Given the description of an element on the screen output the (x, y) to click on. 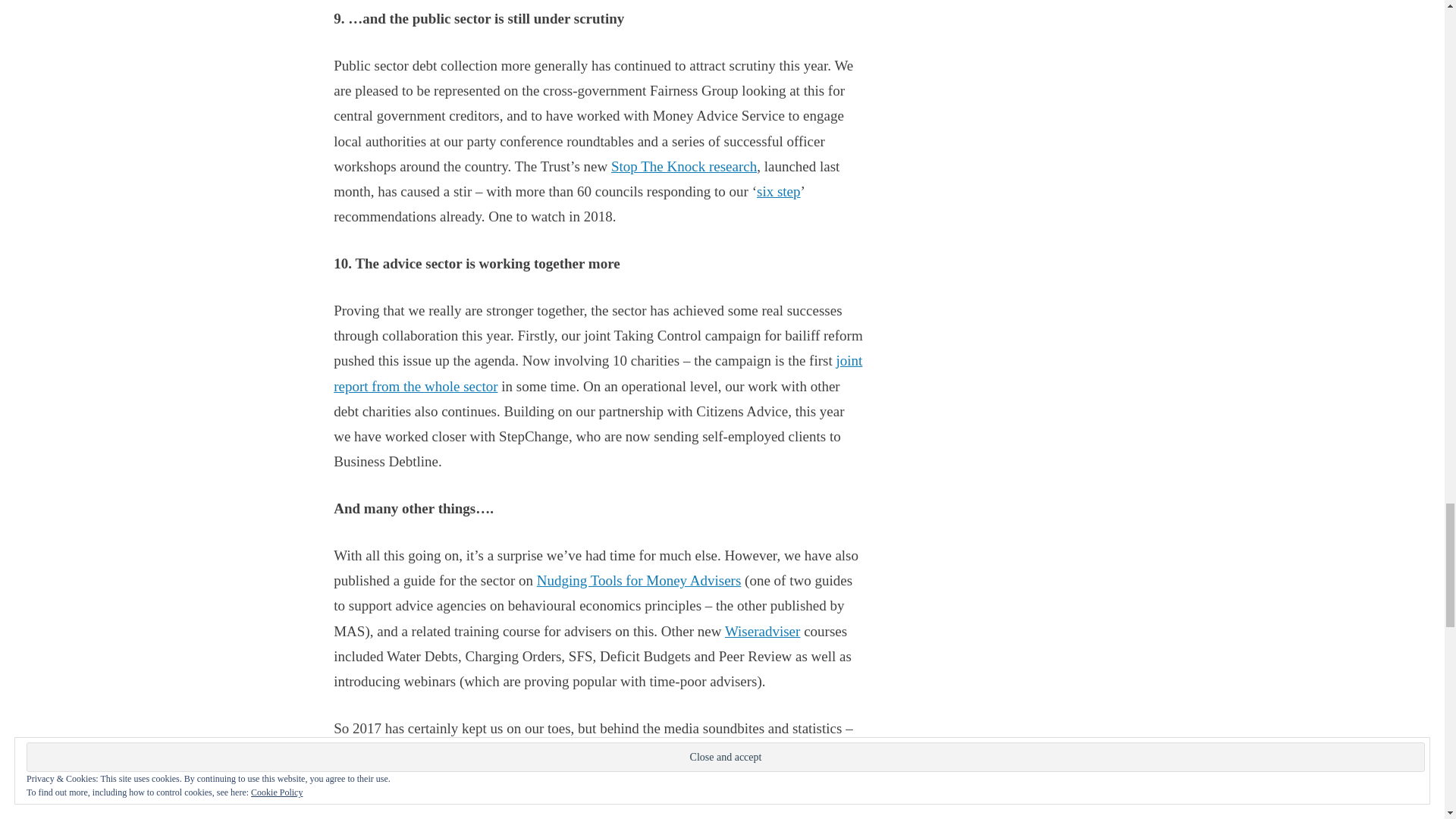
Nudging Tools for Money Advisers (639, 580)
Wiseradviser (762, 631)
six step (778, 191)
Stop The Knock research (684, 166)
joint report from the whole sector (597, 372)
